Given the description of an element on the screen output the (x, y) to click on. 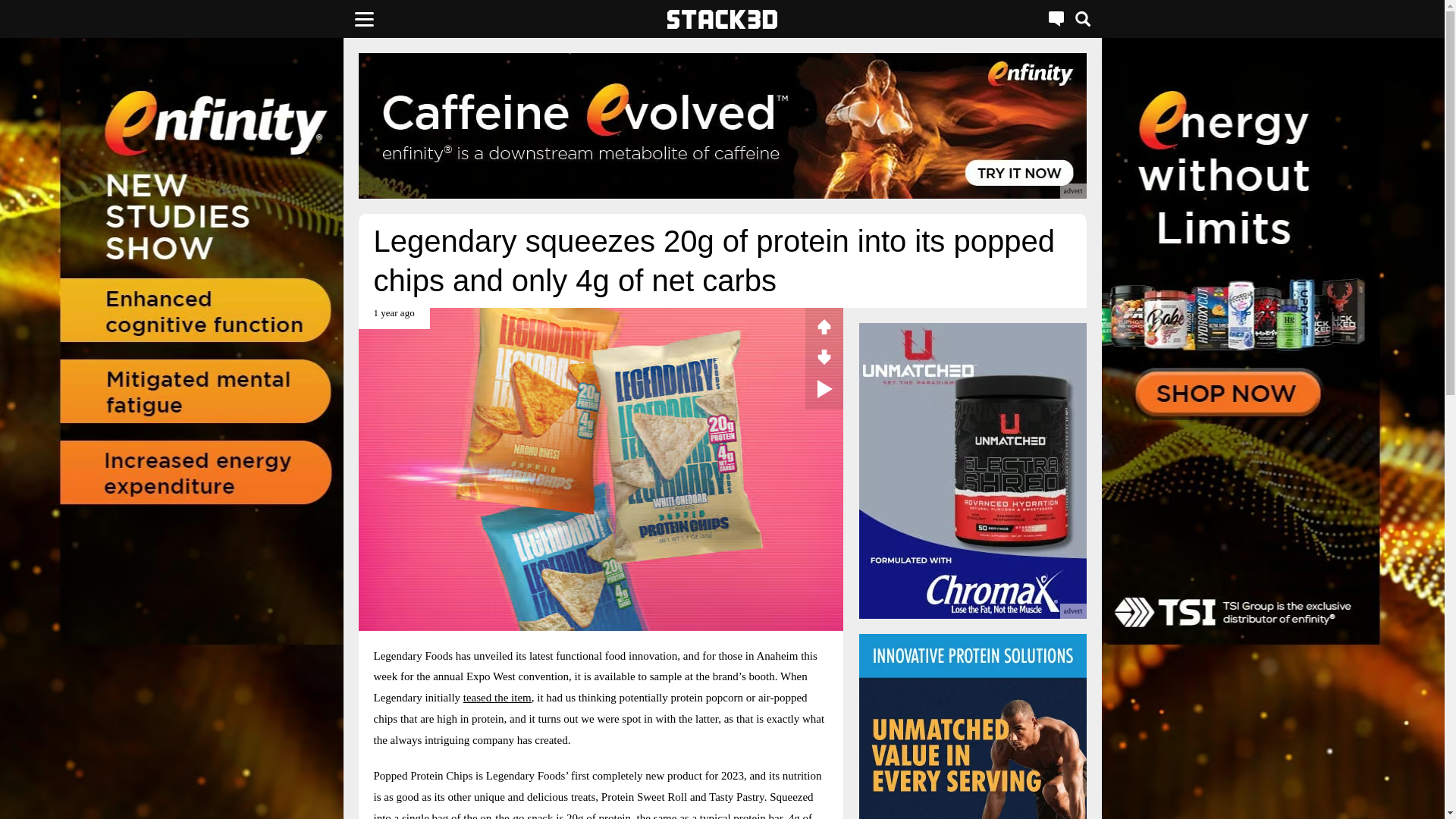
March 9th 2023 (393, 318)
teased the item (497, 697)
